Given the description of an element on the screen output the (x, y) to click on. 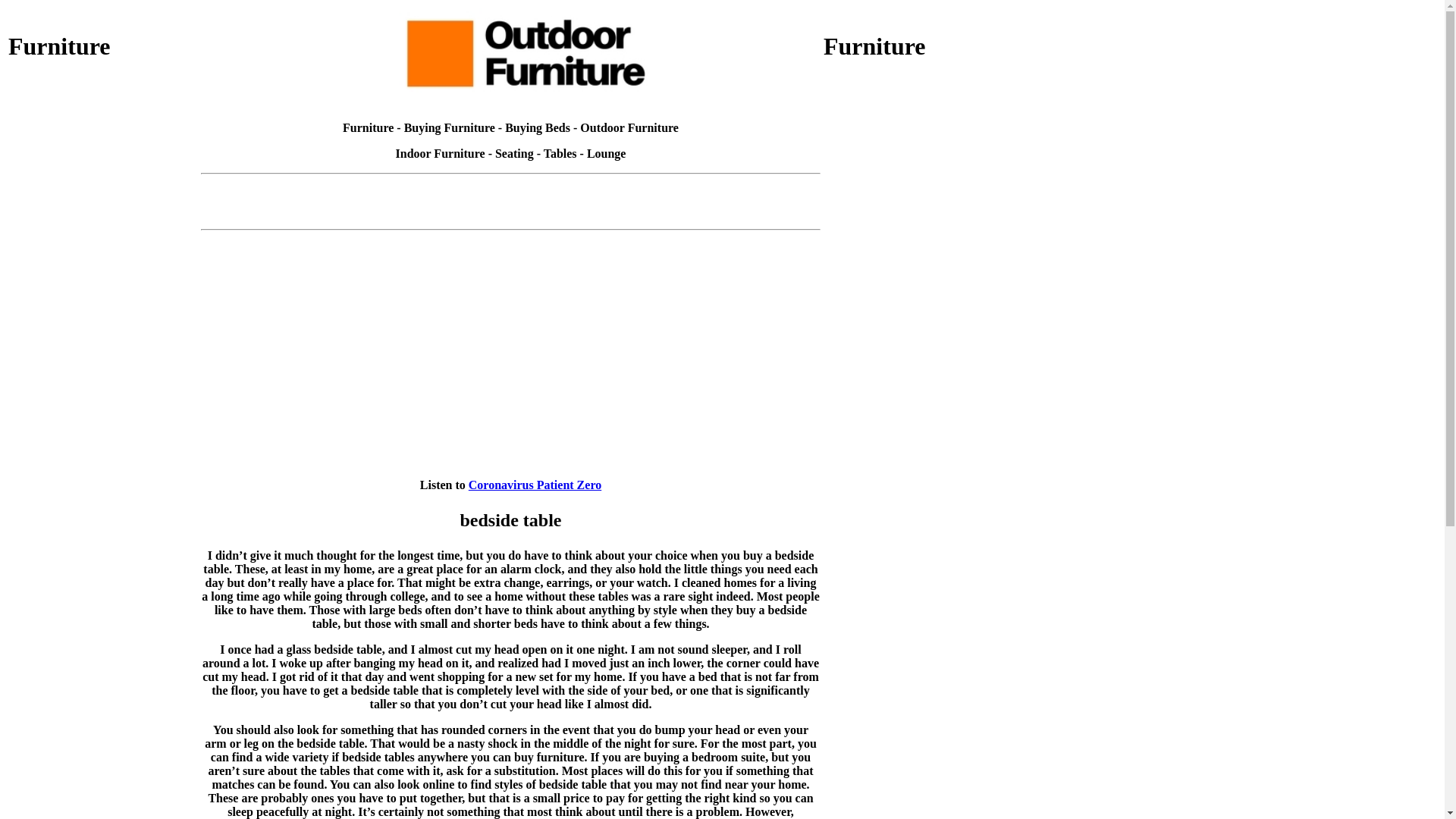
Lounge Element type: text (606, 153)
Tables Element type: text (560, 153)
Buying Beds Element type: text (537, 127)
Advertisement Element type: hover (918, 385)
Outdoor Furniture Element type: text (629, 127)
Coronavirus Patient Zero Element type: text (534, 484)
Advertisement Element type: hover (511, 185)
Seating Element type: text (514, 153)
Advertisement Element type: hover (102, 385)
Advertisement Element type: hover (918, 179)
Advertisement Element type: hover (511, 213)
Advertisement Element type: hover (102, 179)
Advertisement Element type: hover (102, 592)
Furniture Element type: text (367, 127)
Buying Furniture Element type: text (449, 127)
Indoor Furniture Element type: text (440, 153)
Advertisement Element type: hover (918, 592)
